Given the description of an element on the screen output the (x, y) to click on. 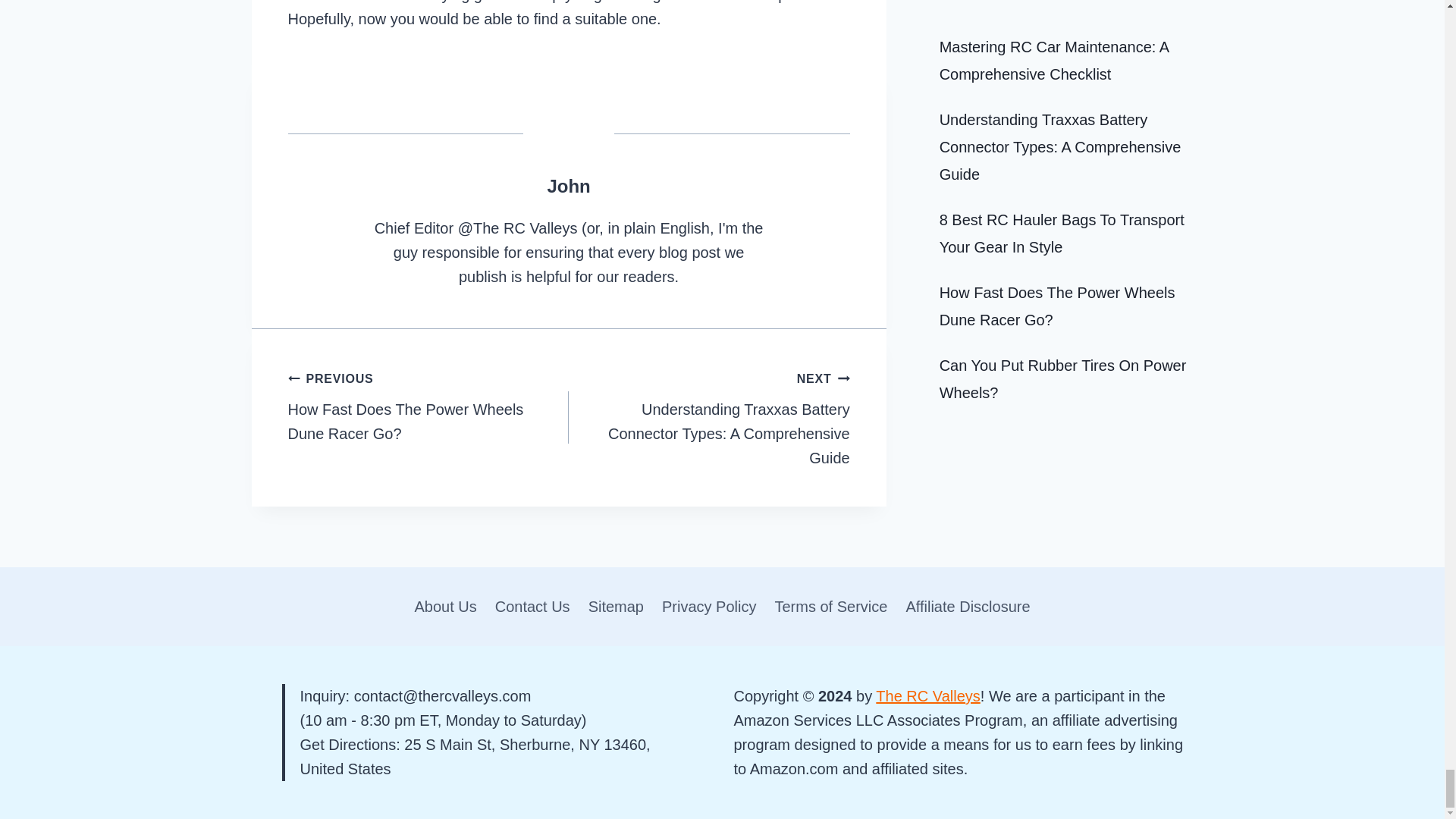
About Us (444, 606)
Terms of Service (830, 606)
Privacy Policy (708, 606)
Sitemap (615, 606)
Contact Us (532, 606)
